Given the description of an element on the screen output the (x, y) to click on. 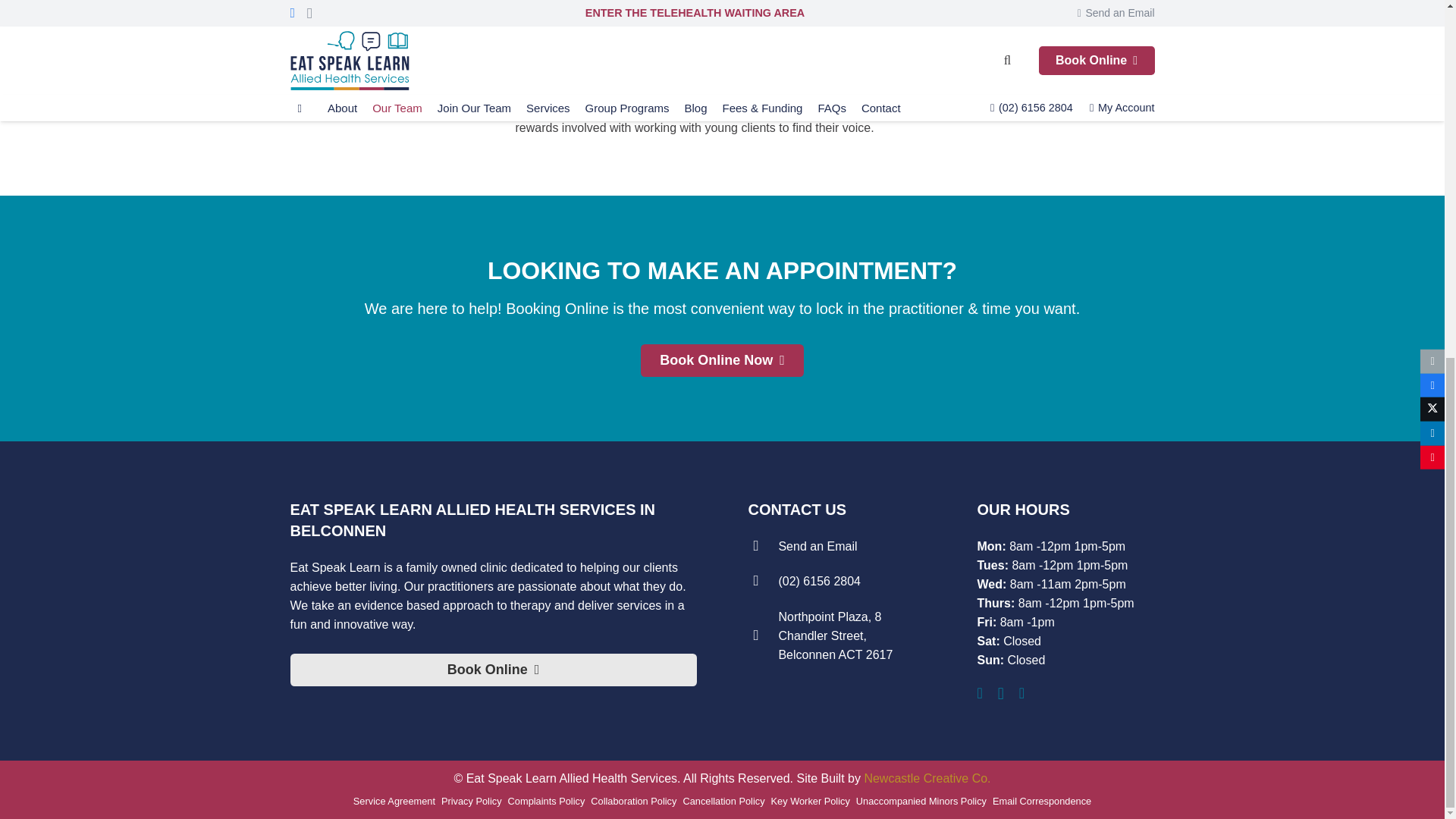
Back to top (30, 214)
Book Online (721, 359)
Book Online Now (721, 359)
Book Online (492, 38)
